Given the description of an element on the screen output the (x, y) to click on. 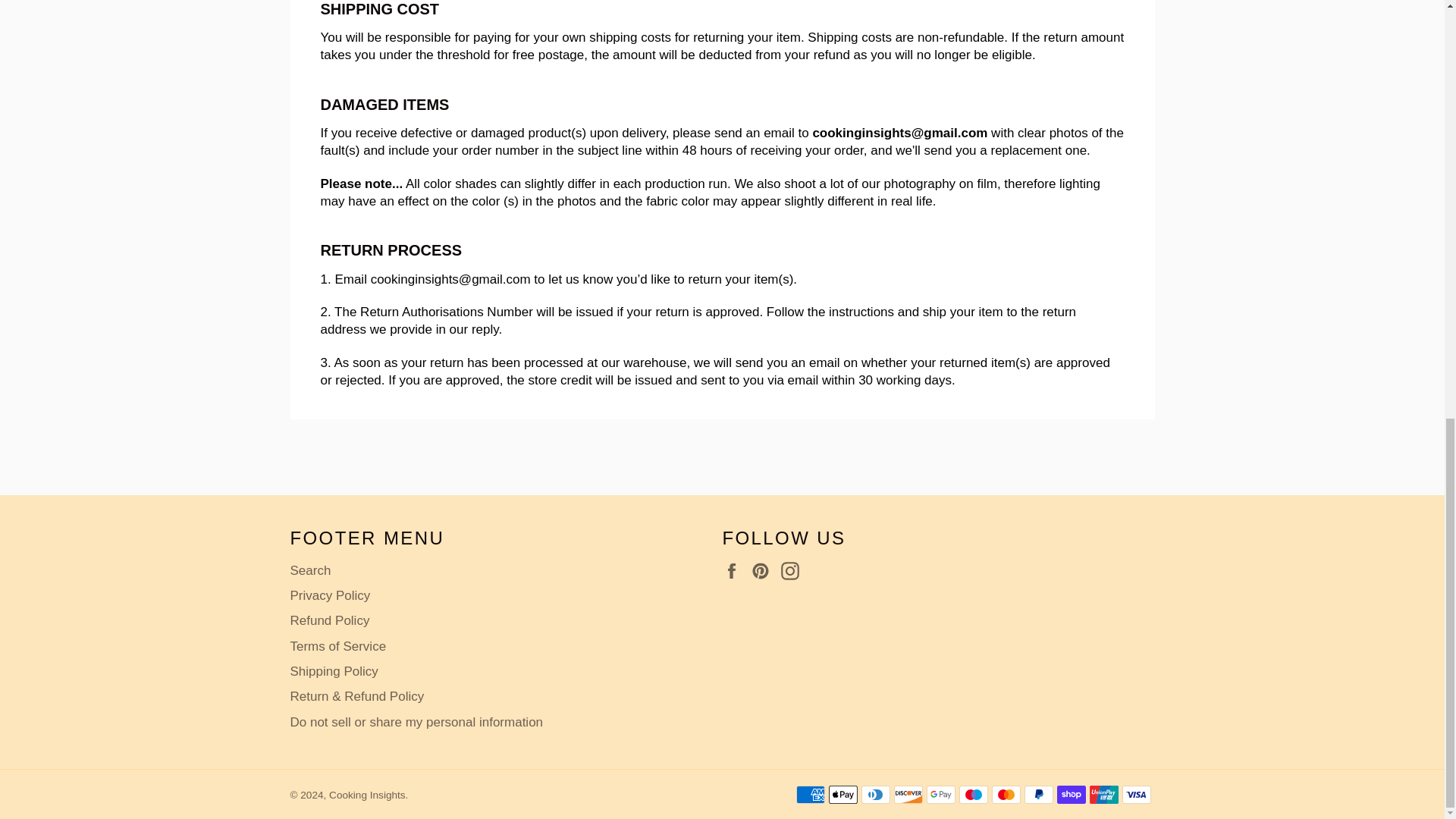
Cooking Insights on Pinterest (764, 570)
Cooking Insights on Instagram (793, 570)
Cooking Insights on Facebook (735, 570)
